Given the description of an element on the screen output the (x, y) to click on. 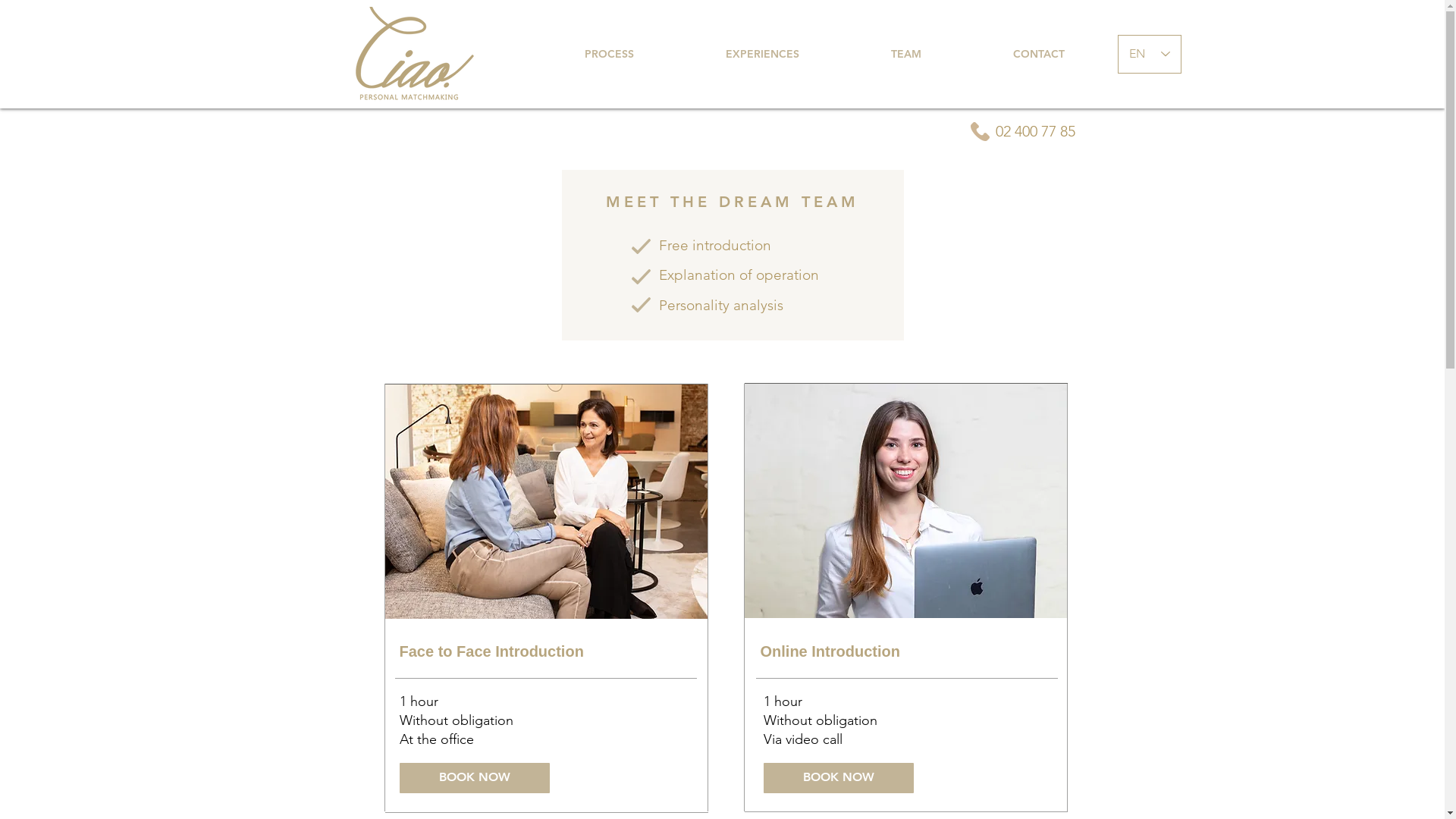
PROCESS Element type: text (608, 54)
CONTACT Element type: text (1037, 54)
TEAM Element type: text (905, 54)
EXPERIENCES Element type: text (761, 54)
BOOK NOW Element type: text (473, 777)
BOOK NOW Element type: text (837, 777)
